Given the description of an element on the screen output the (x, y) to click on. 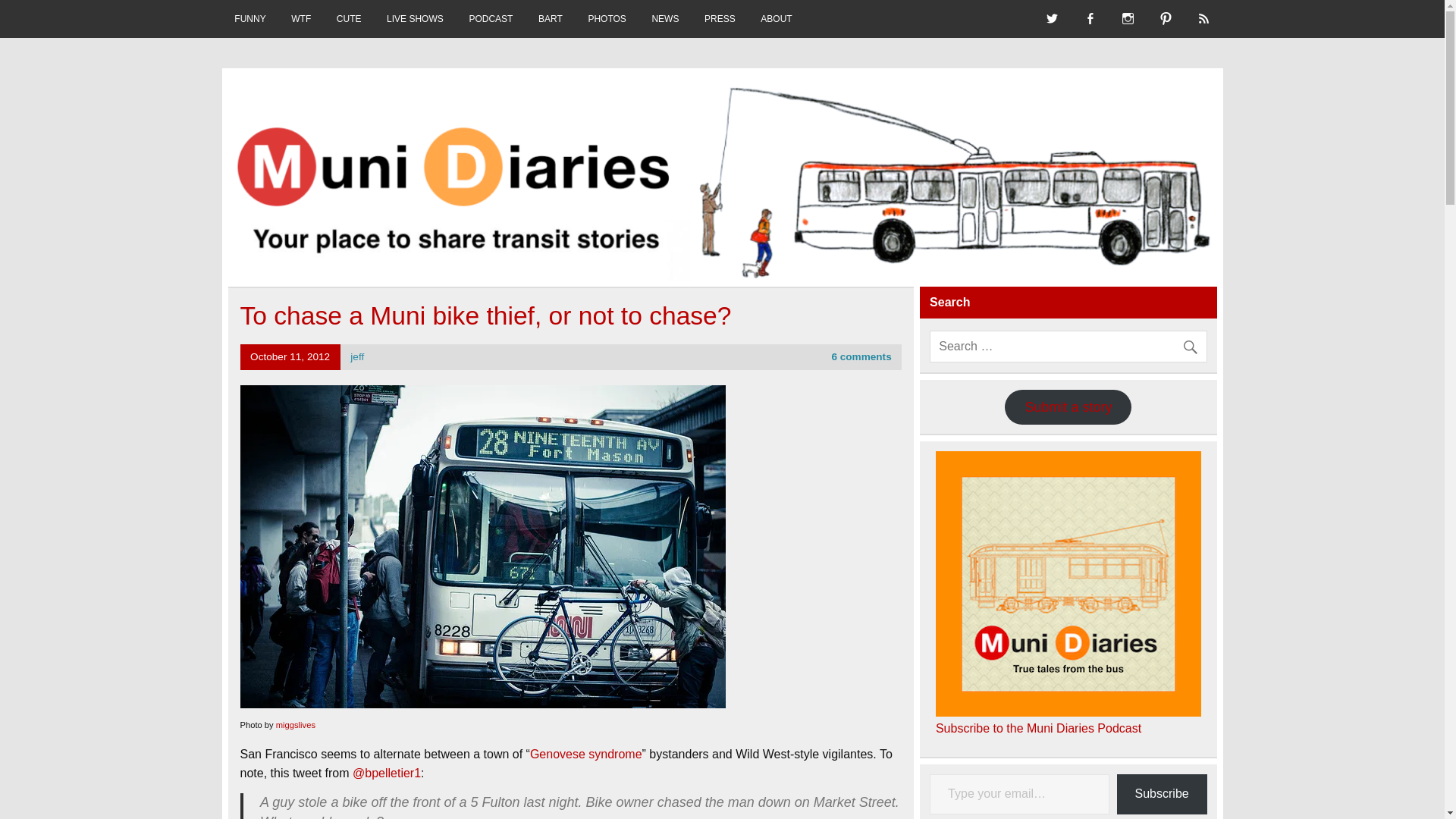
jeff (357, 356)
PHOTOS (607, 18)
October 11, 2012 (290, 356)
View all posts by jeff (357, 356)
Muni Diaries (318, 94)
ABOUT (776, 18)
CUTE (348, 18)
PRESS (719, 18)
NEWS (666, 18)
FUNNY (249, 18)
